Given the description of an element on the screen output the (x, y) to click on. 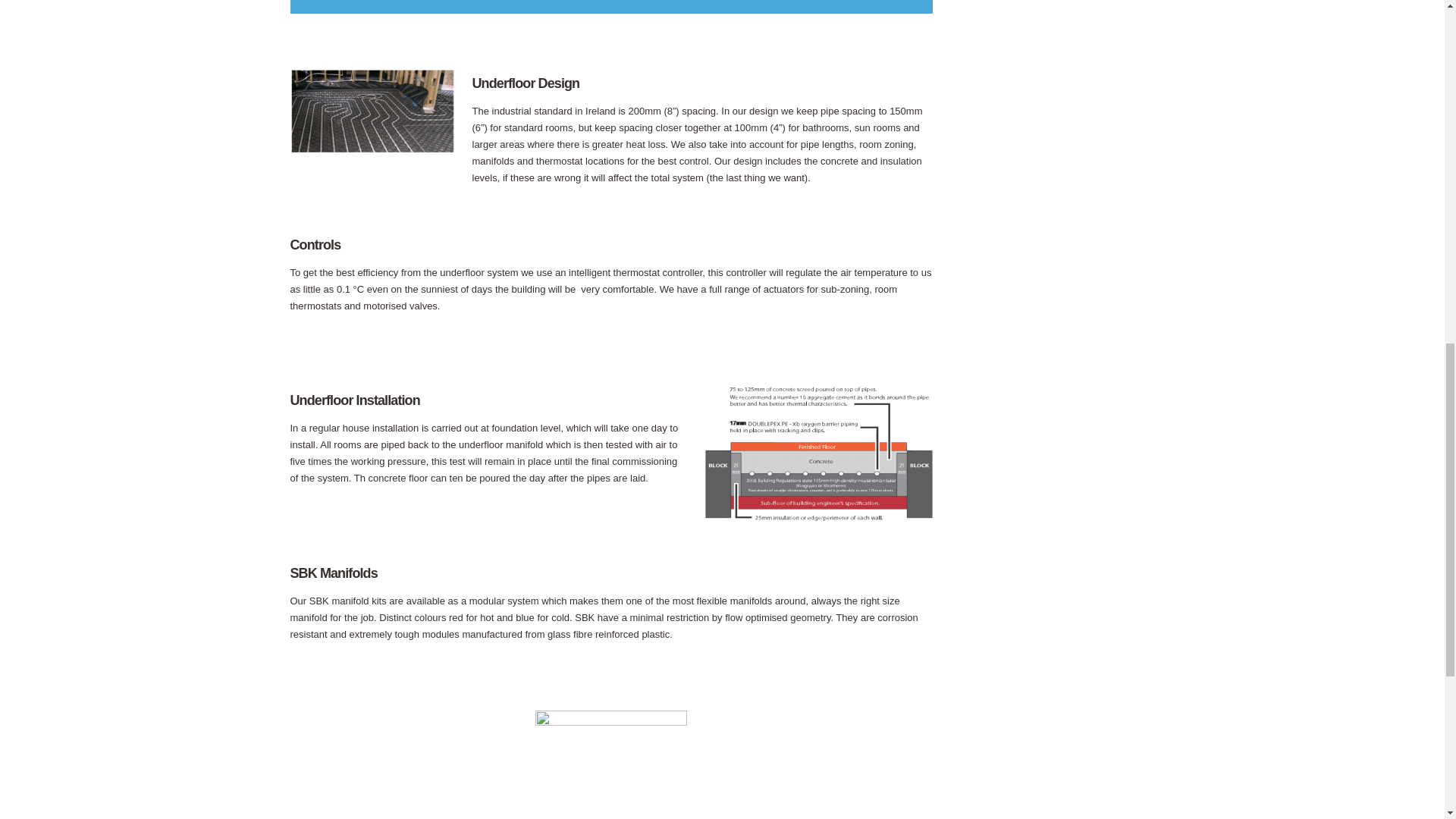
Underfloor PDF construction (818, 457)
waterfurnace (611, 740)
Underfloor piping (370, 139)
